Given the description of an element on the screen output the (x, y) to click on. 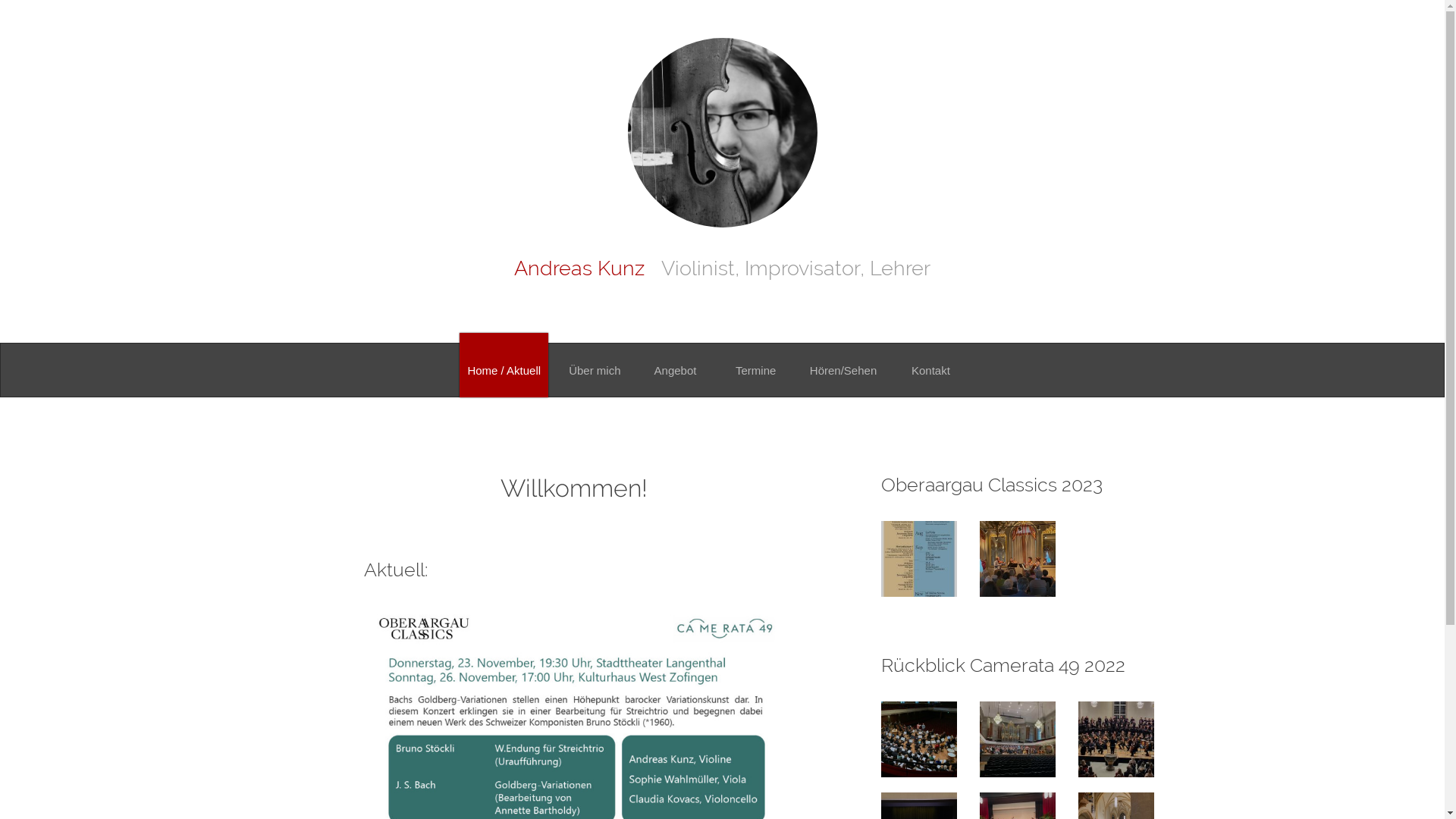
Termine Element type: text (755, 364)
Angebot Element type: text (674, 364)
Kontakt Element type: text (930, 364)
Andreas Kunz Violinist, Improvisator, Lehrer Element type: text (722, 267)
Home / Aktuell Element type: text (503, 364)
